Given the description of an element on the screen output the (x, y) to click on. 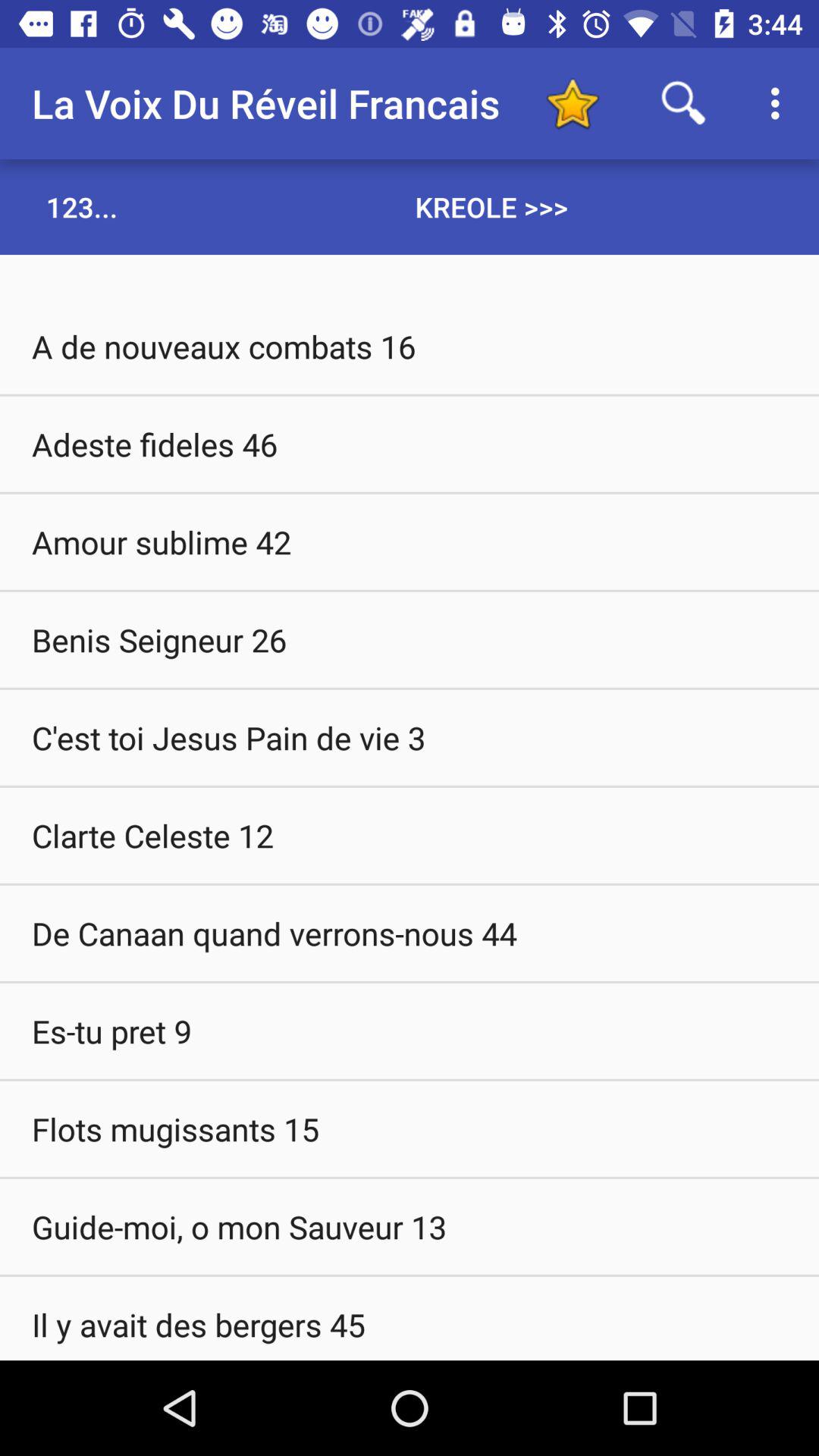
scroll to the a de nouveaux (409, 346)
